Given the description of an element on the screen output the (x, y) to click on. 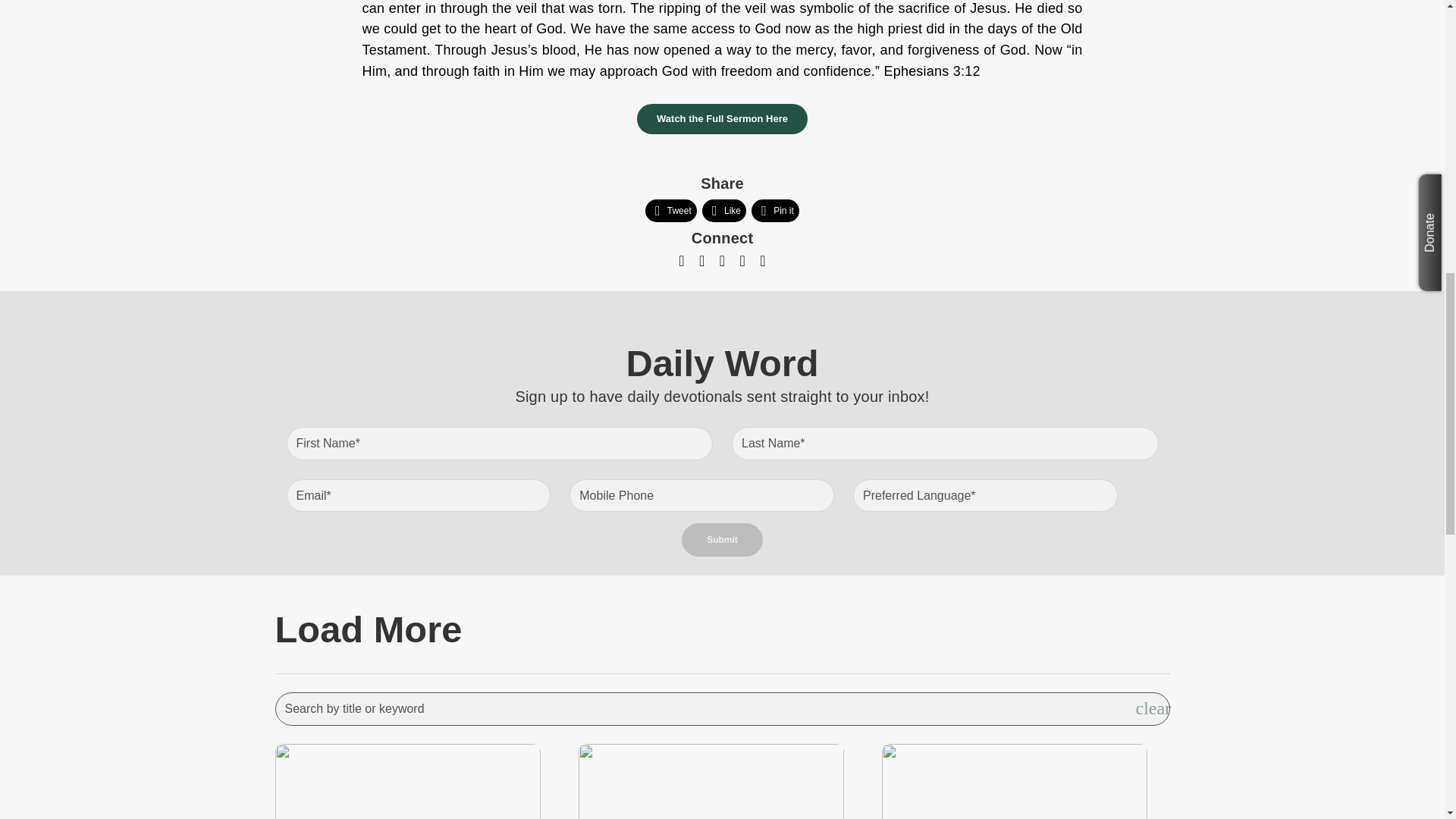
Quitters, Campers, and Climbers (418, 815)
Climbing Companions (722, 815)
Submit (721, 539)
Your God-Given Blessing (1024, 815)
